Given the description of an element on the screen output the (x, y) to click on. 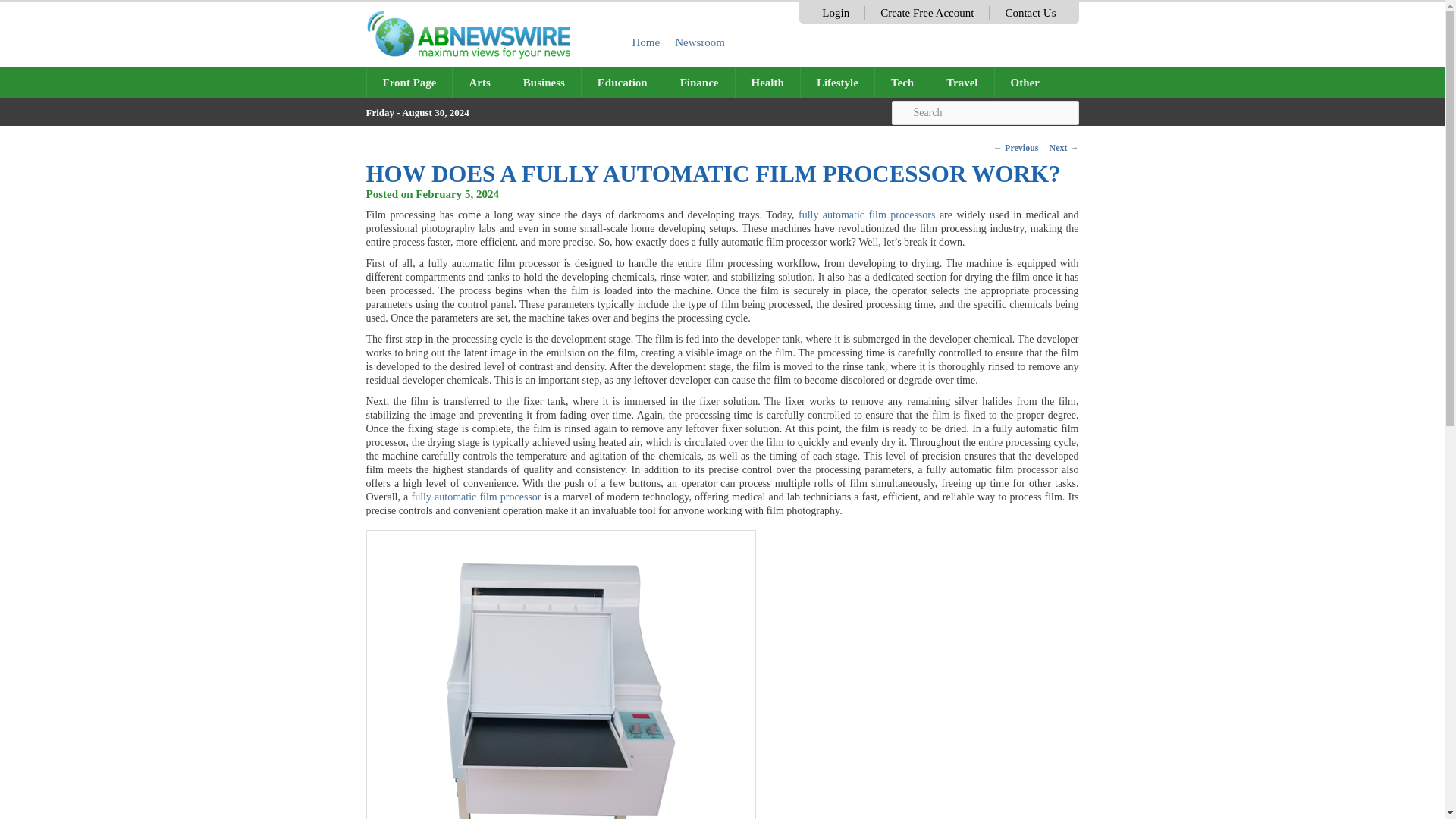
Finance (698, 82)
Login (835, 12)
Arts (478, 82)
Front Page (409, 82)
Home (646, 42)
Newsroom (700, 42)
Search (984, 112)
Contact Us (1030, 12)
Education (622, 82)
Search (984, 112)
